Given the description of an element on the screen output the (x, y) to click on. 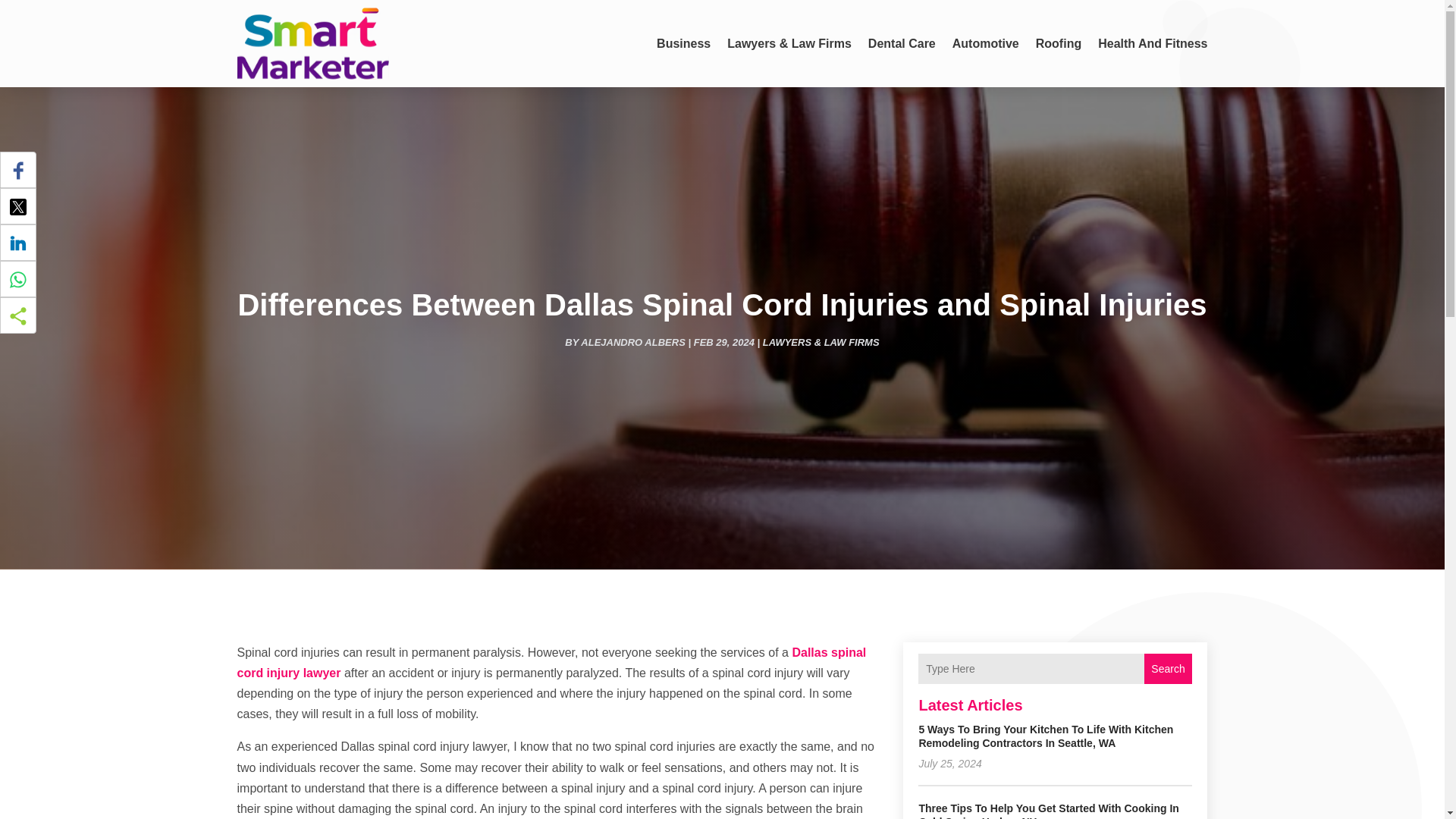
Dallas spinal cord injury lawyer (550, 662)
Posts by Alejandro Albers (632, 342)
ALEJANDRO ALBERS (632, 342)
Health And Fitness (1152, 43)
Search (1168, 668)
